Given the description of an element on the screen output the (x, y) to click on. 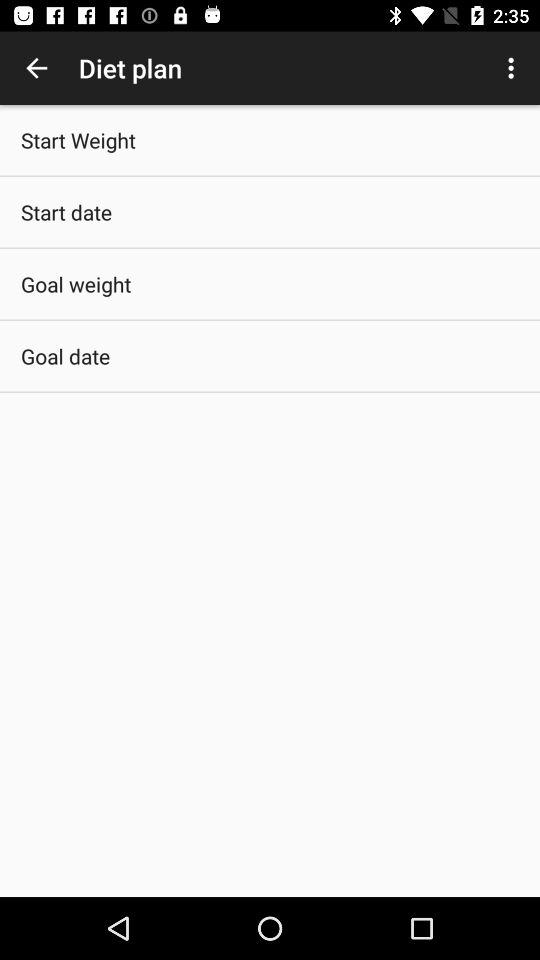
select icon to the left of diet plan icon (36, 68)
